Given the description of an element on the screen output the (x, y) to click on. 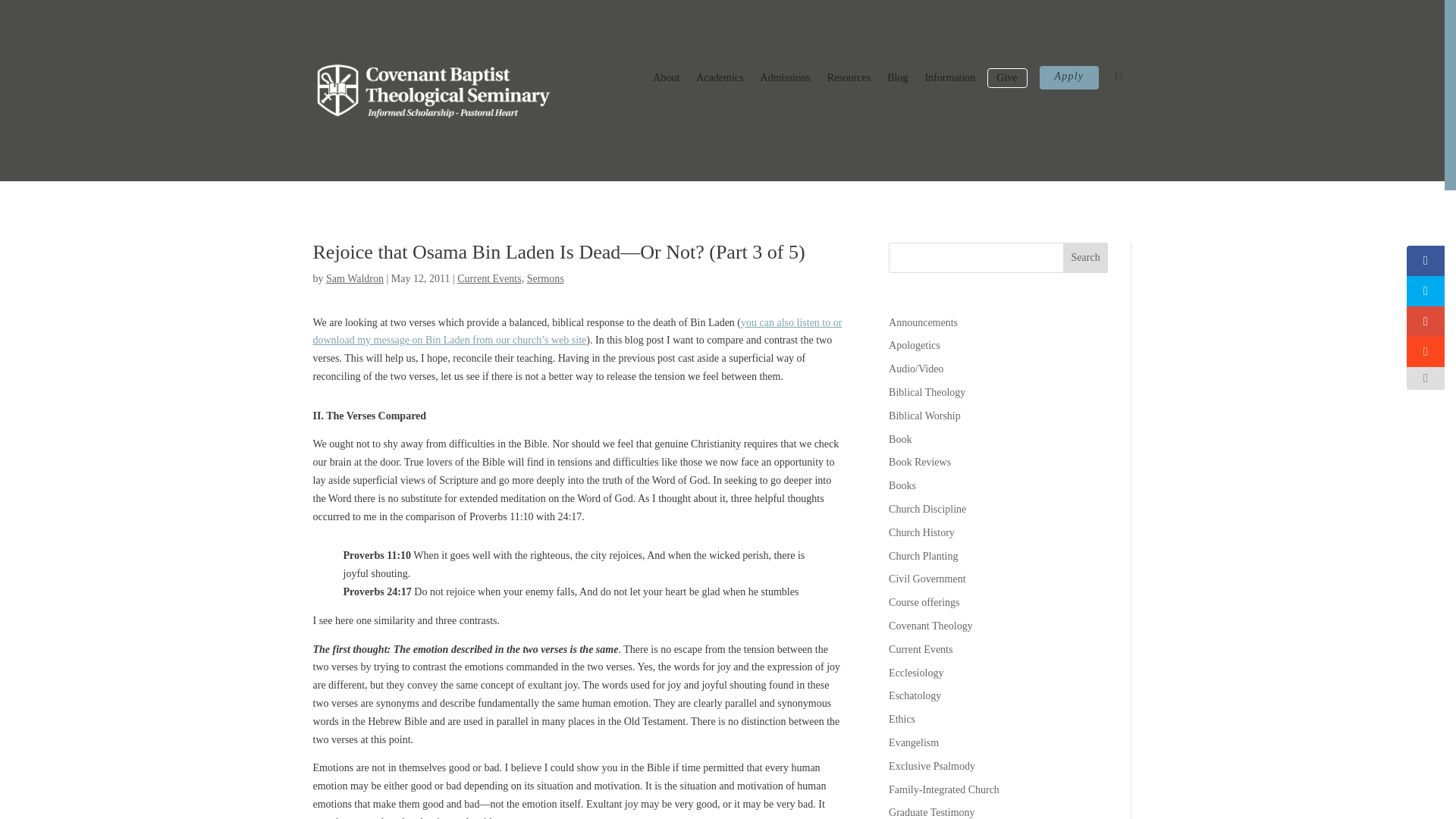
Resources (848, 79)
CBTS Logo (433, 90)
Search (1085, 257)
Posts by Sam Waldron (355, 278)
Academics (718, 79)
About (665, 79)
Rejoice that Osama Bin Laden is Dead - Or Not? Sermon (577, 331)
Admissions (785, 79)
